Given the description of an element on the screen output the (x, y) to click on. 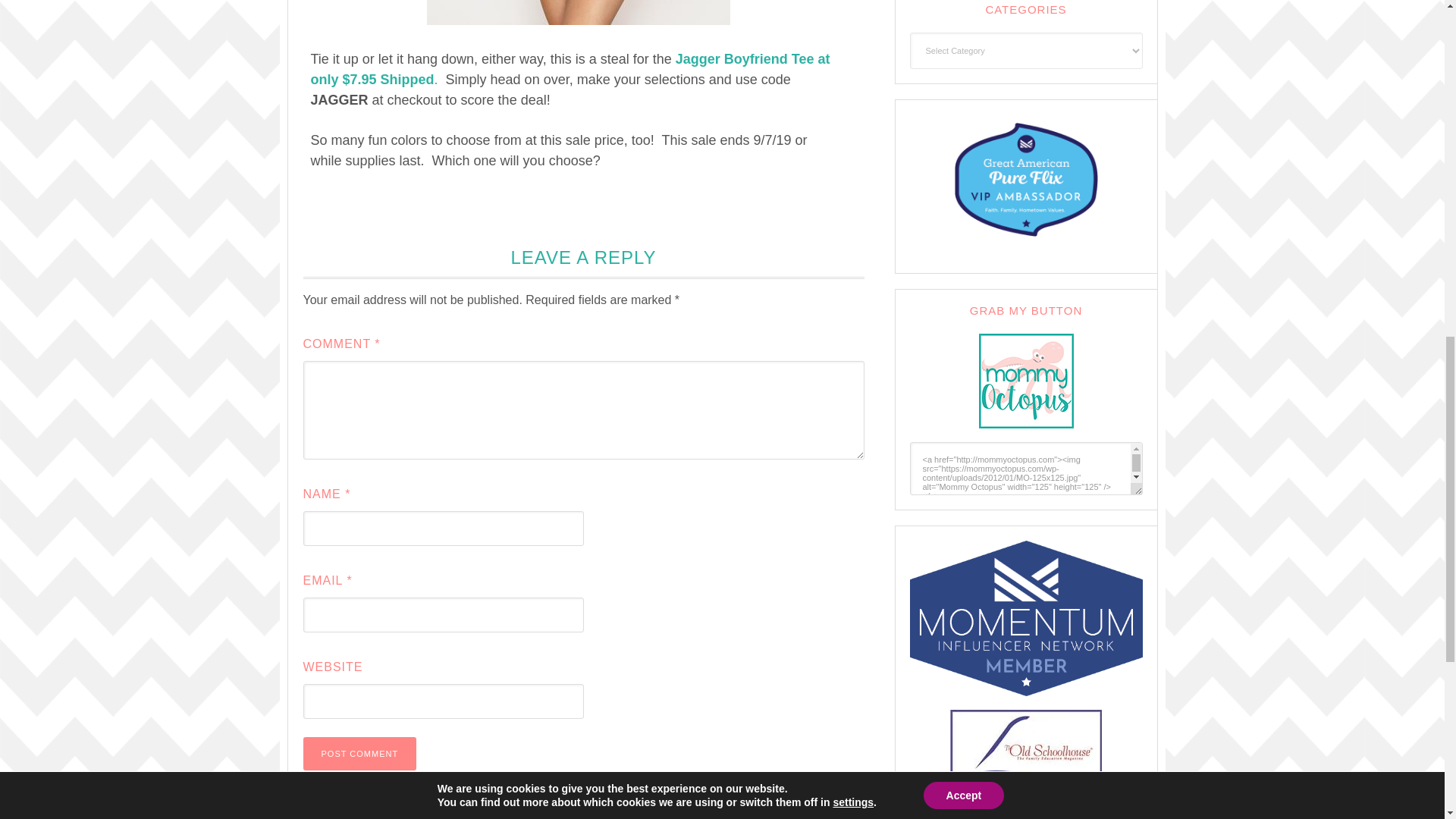
Post Comment (359, 753)
Post Comment (359, 753)
Learn how your comment data is processed (675, 810)
